Given the description of an element on the screen output the (x, y) to click on. 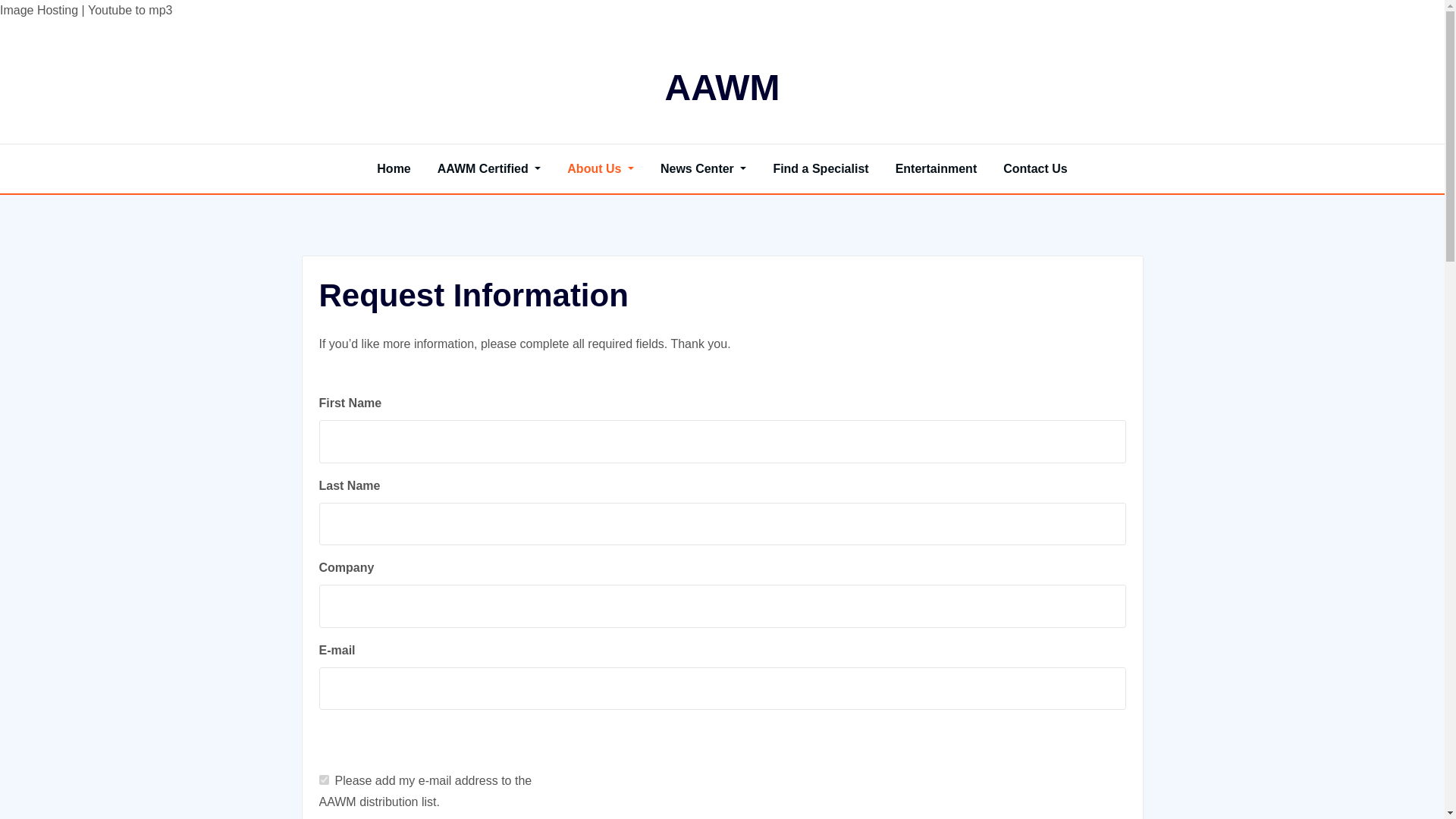
Find a Specialist (820, 168)
Entertainment (935, 168)
Contact Us (1035, 168)
AAWM Certified (489, 168)
Yes (323, 779)
News Center (703, 168)
About Us (600, 168)
AAWM (722, 87)
Home (393, 168)
